Given the description of an element on the screen output the (x, y) to click on. 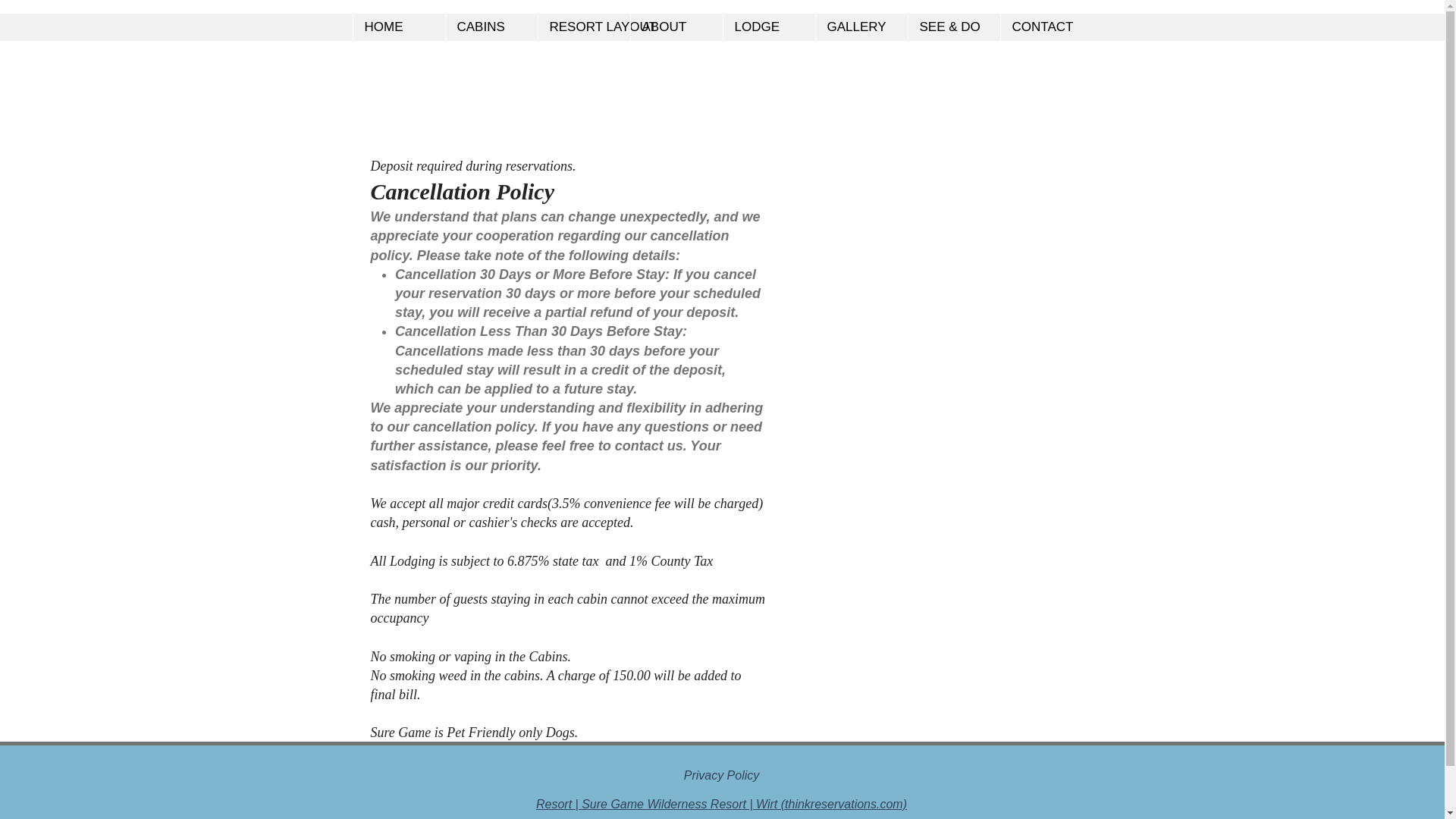
LODGE (767, 26)
RESORT LAYOUT (582, 26)
CABINS (490, 26)
ABOUT (675, 26)
HOME (398, 26)
CONTACT (1045, 26)
GALLERY (860, 26)
